Given the description of an element on the screen output the (x, y) to click on. 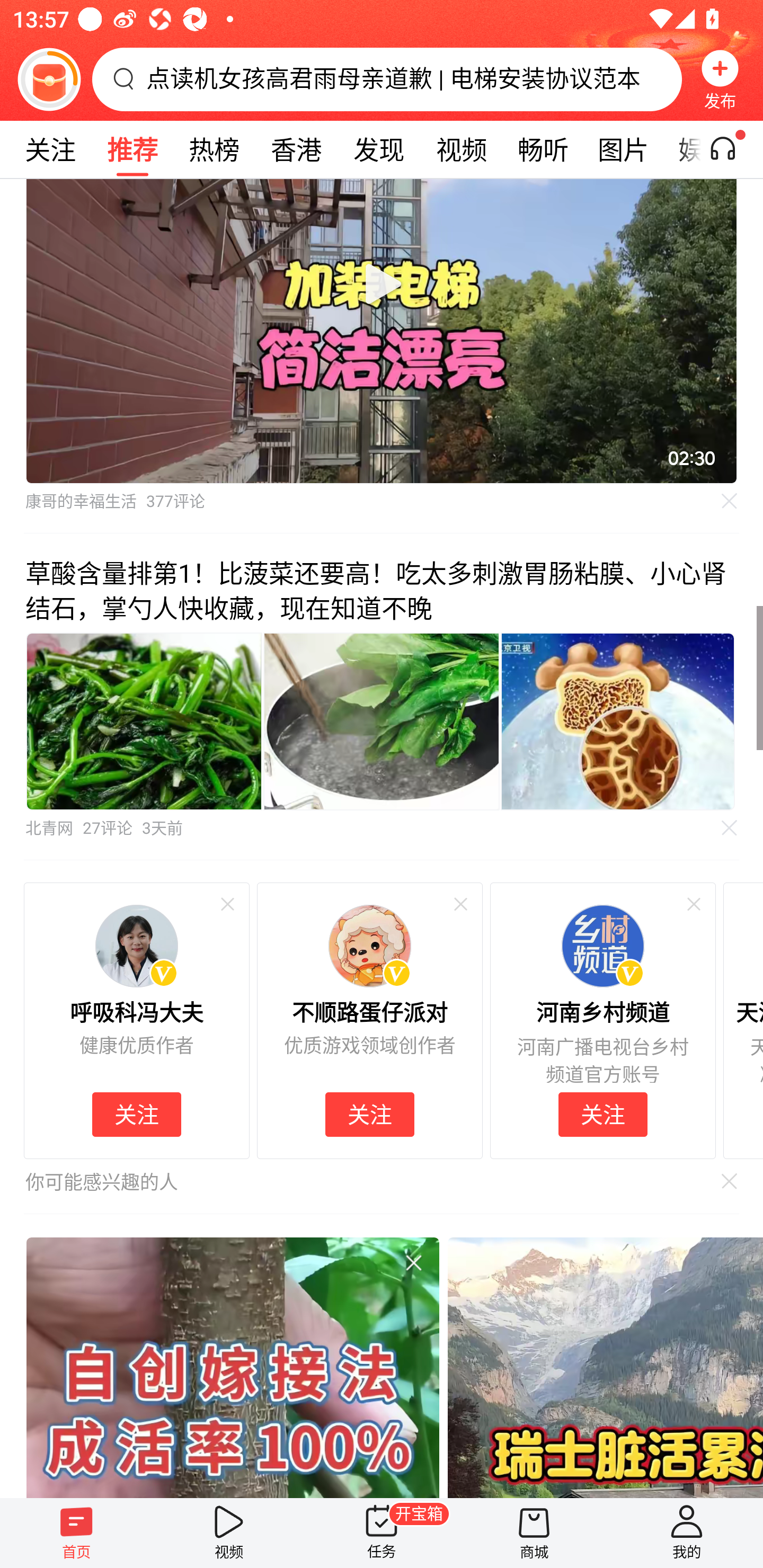
阅读赚金币 (48, 79)
发布 发布，按钮 (720, 78)
关注 (50, 149)
推荐 (132, 149)
热榜 (213, 149)
香港 (295, 149)
发现 (378, 149)
视频 (461, 149)
畅听 (542, 149)
图片 (623, 149)
听一听开关 (732, 149)
播放视频 视频播放器，双击屏幕打开播放控制 (381, 331)
播放视频 (381, 283)
不感兴趣 (729, 501)
内容图片 (143, 720)
内容图片 (381, 720)
内容图片 (617, 720)
不感兴趣 (729, 827)
呼吸科冯大夫头像 呼吸科冯大夫 健康优质作者 关注 关注 不感兴趣 (136, 1020)
不感兴趣 (227, 904)
不顺路蛋仔派对头像 不顺路蛋仔派对 优质游戏领域创作者 关注 关注 不感兴趣 (369, 1020)
不感兴趣 (459, 904)
河南乡村频道头像 河南乡村频道 河南广播电视台乡村频道官方账号 关注 关注 不感兴趣 (602, 1020)
不感兴趣 (693, 904)
呼吸科冯大夫头像 (136, 945)
不顺路蛋仔派对头像 (369, 945)
河南乡村频道头像 (602, 945)
关注 (136, 1114)
关注 (136, 1114)
关注 (369, 1114)
关注 (602, 1114)
移除推荐 (724, 1180)
像瑞士这样发达国家，脏活累活谁来干？#瑞士#阿尔卑斯山 #劳动人民, 117万次播放 (604, 1367)
不感兴趣 (413, 1262)
首页 (76, 1532)
视频 (228, 1532)
任务 开宝箱 (381, 1532)
商城 (533, 1532)
我的 (686, 1532)
